Given the description of an element on the screen output the (x, y) to click on. 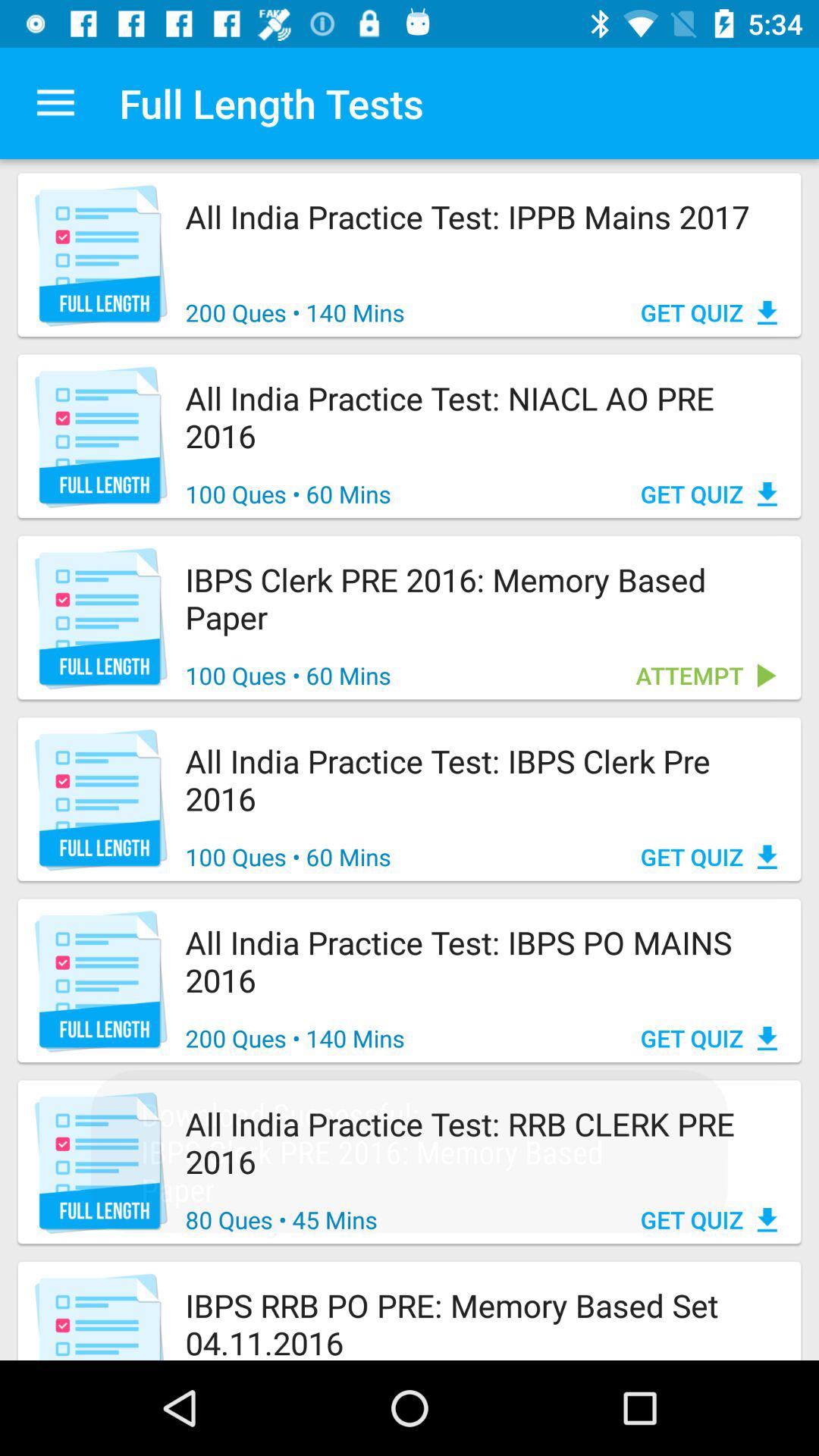
select icon next to the full length tests app (55, 103)
